Given the description of an element on the screen output the (x, y) to click on. 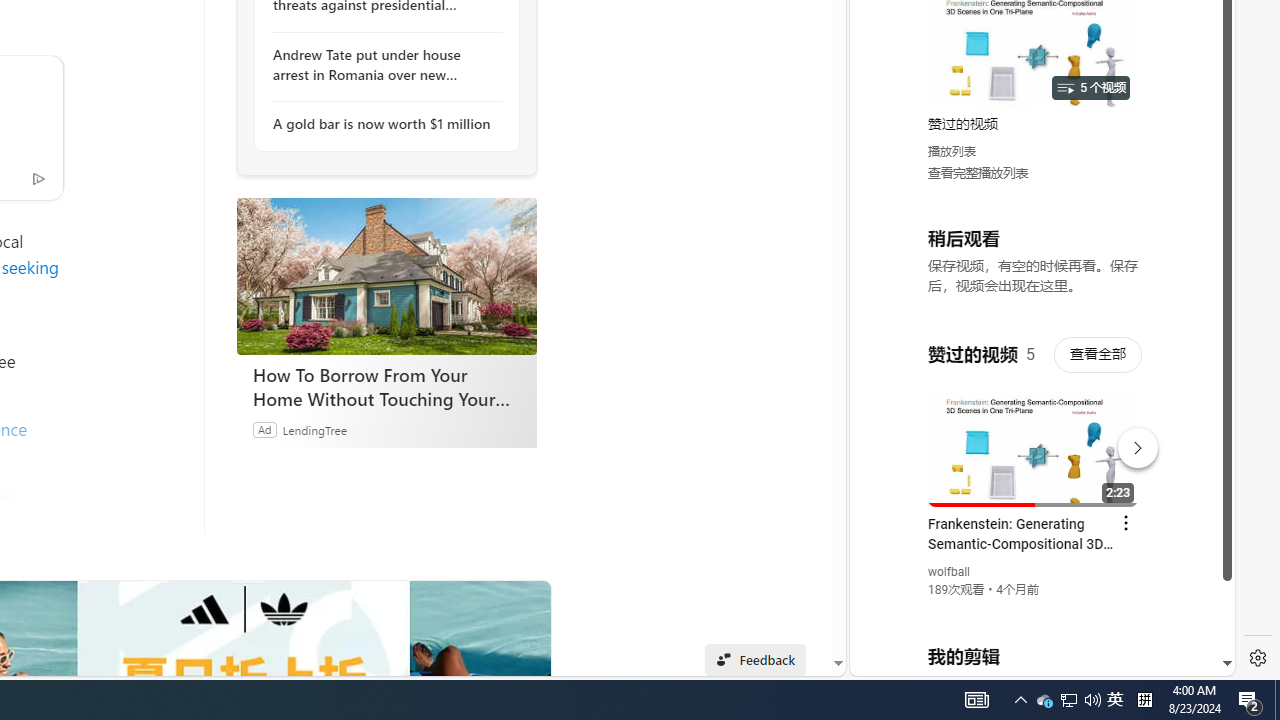
YouTube - YouTube (1034, 266)
Ad Choice (38, 177)
YouTube (1034, 432)
See more (526, 604)
How To Borrow From Your Home Without Touching Your Mortgage (386, 276)
wolfball (949, 572)
Class: dict_pnIcon rms_img (1028, 660)
US[ju] (917, 660)
